Given the description of an element on the screen output the (x, y) to click on. 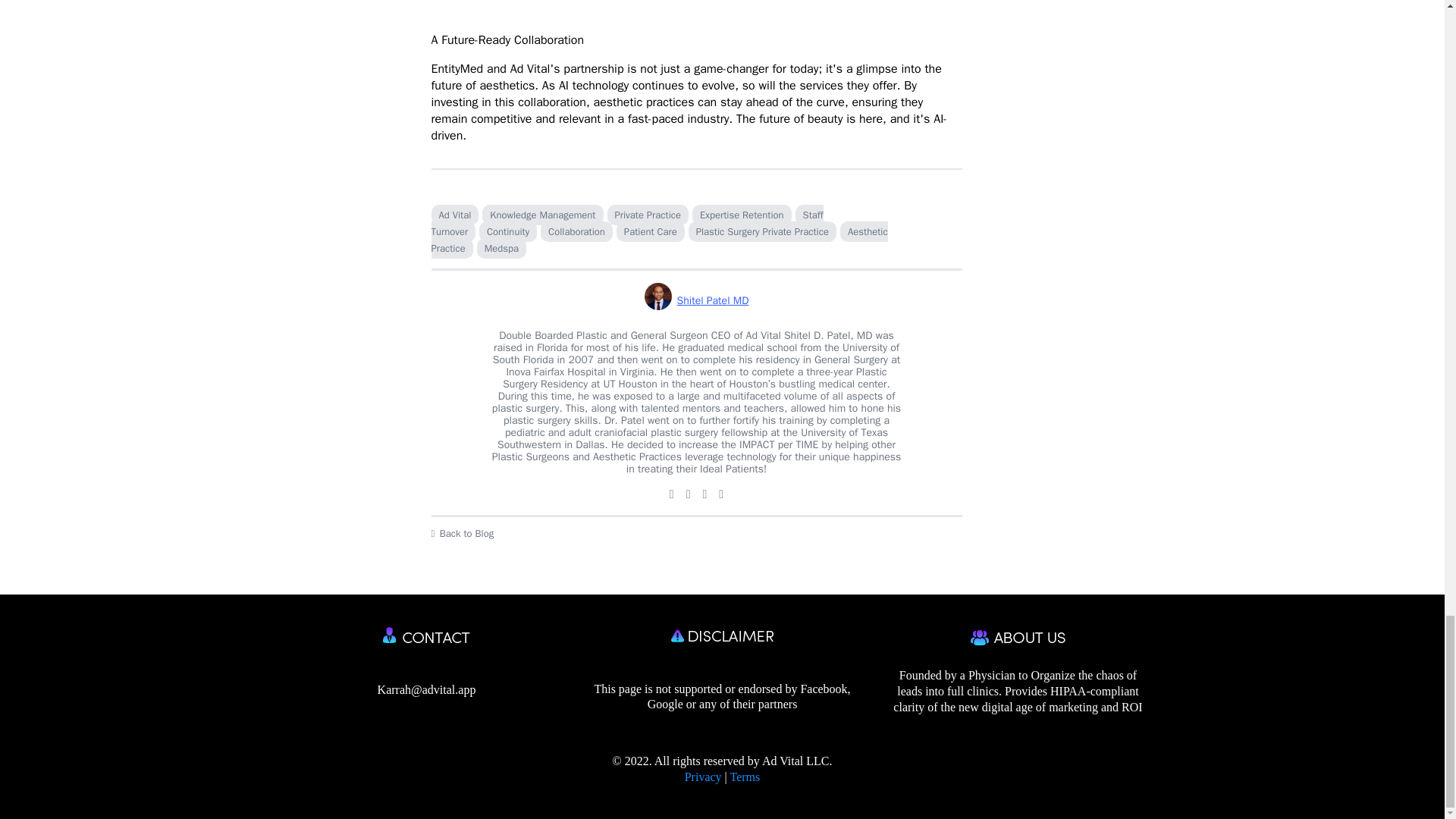
Shitel Patel MD (697, 300)
Privacy (703, 776)
Terms (745, 776)
Back to Blog (695, 533)
